Given the description of an element on the screen output the (x, y) to click on. 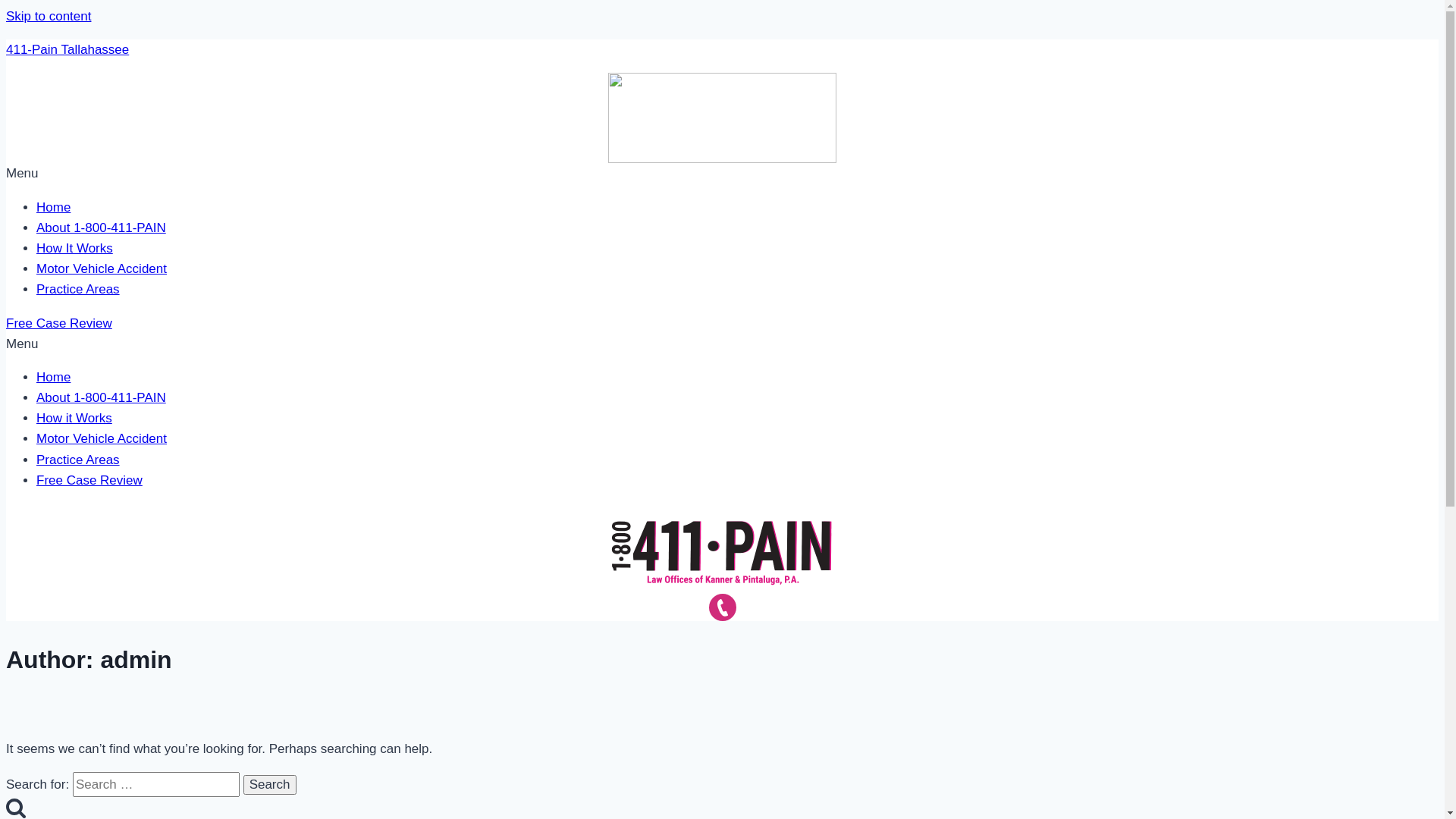
Free Case Review Element type: text (59, 322)
Skip to content Element type: text (48, 16)
How It Works Element type: text (74, 248)
About 1-800-411-PAIN Element type: text (101, 397)
411-Pain Tallahassee Element type: text (67, 49)
Practice Areas Element type: text (77, 459)
Search Element type: text (269, 784)
How it Works Element type: text (74, 418)
Motor Vehicle Accident Element type: text (101, 438)
Home Element type: text (53, 207)
Home Element type: text (53, 377)
About 1-800-411-PAIN Element type: text (101, 227)
Motor Vehicle Accident Element type: text (101, 268)
Free Case Review Element type: text (89, 480)
Practice Areas Element type: text (77, 289)
